Given the description of an element on the screen output the (x, y) to click on. 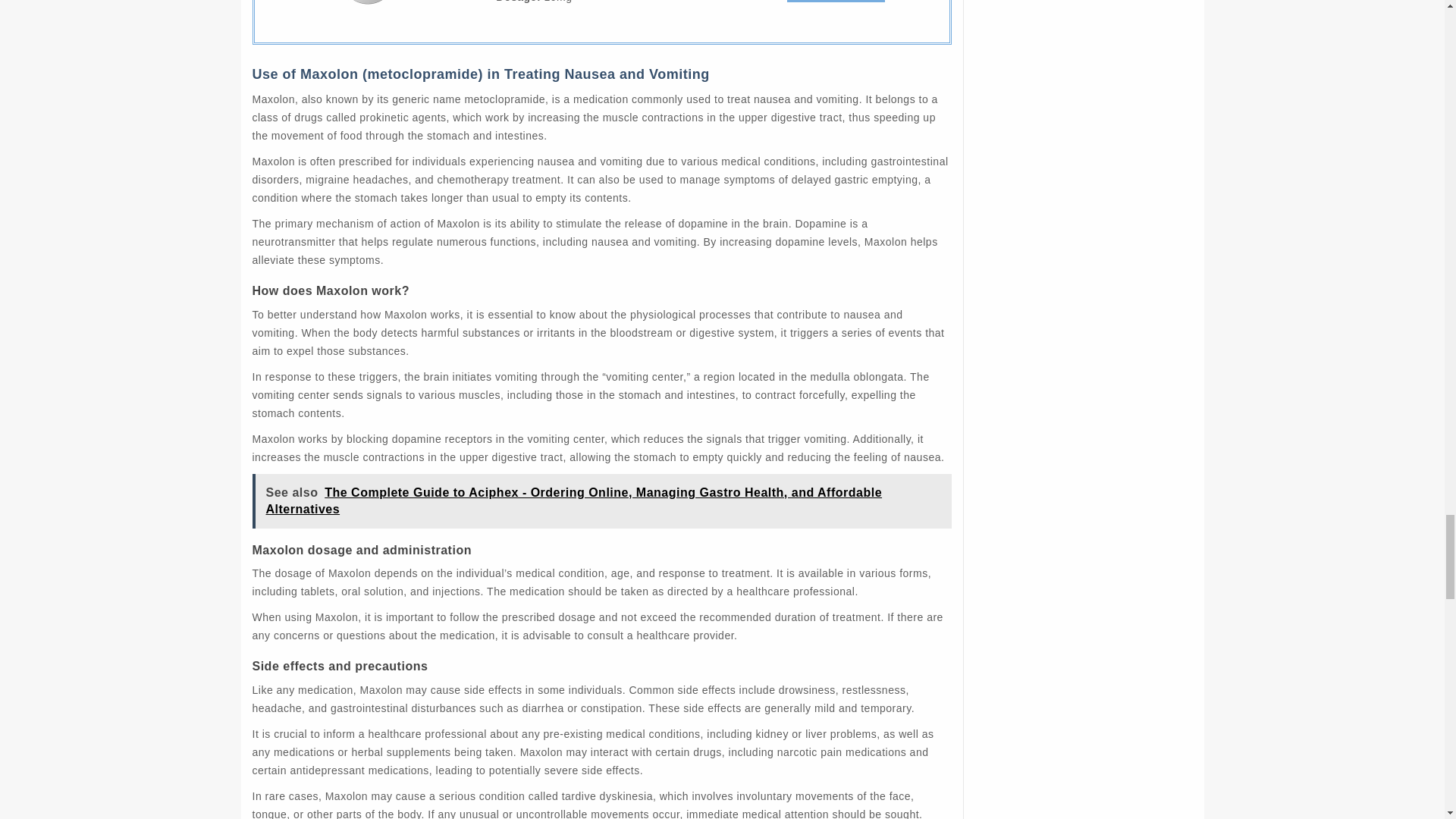
Buy Now (836, 1)
